Given the description of an element on the screen output the (x, y) to click on. 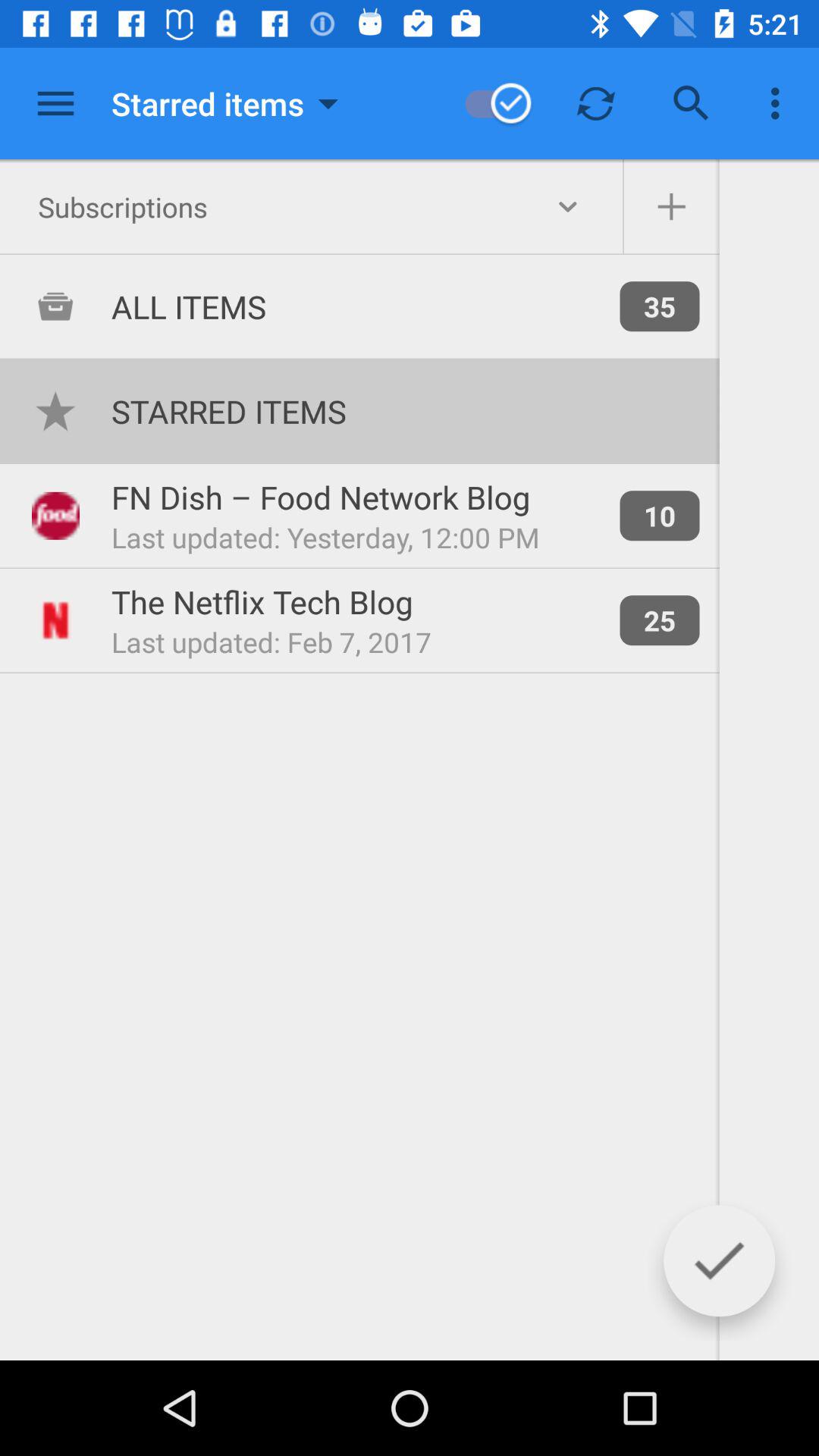
go to advertisement (55, 103)
